Given the description of an element on the screen output the (x, y) to click on. 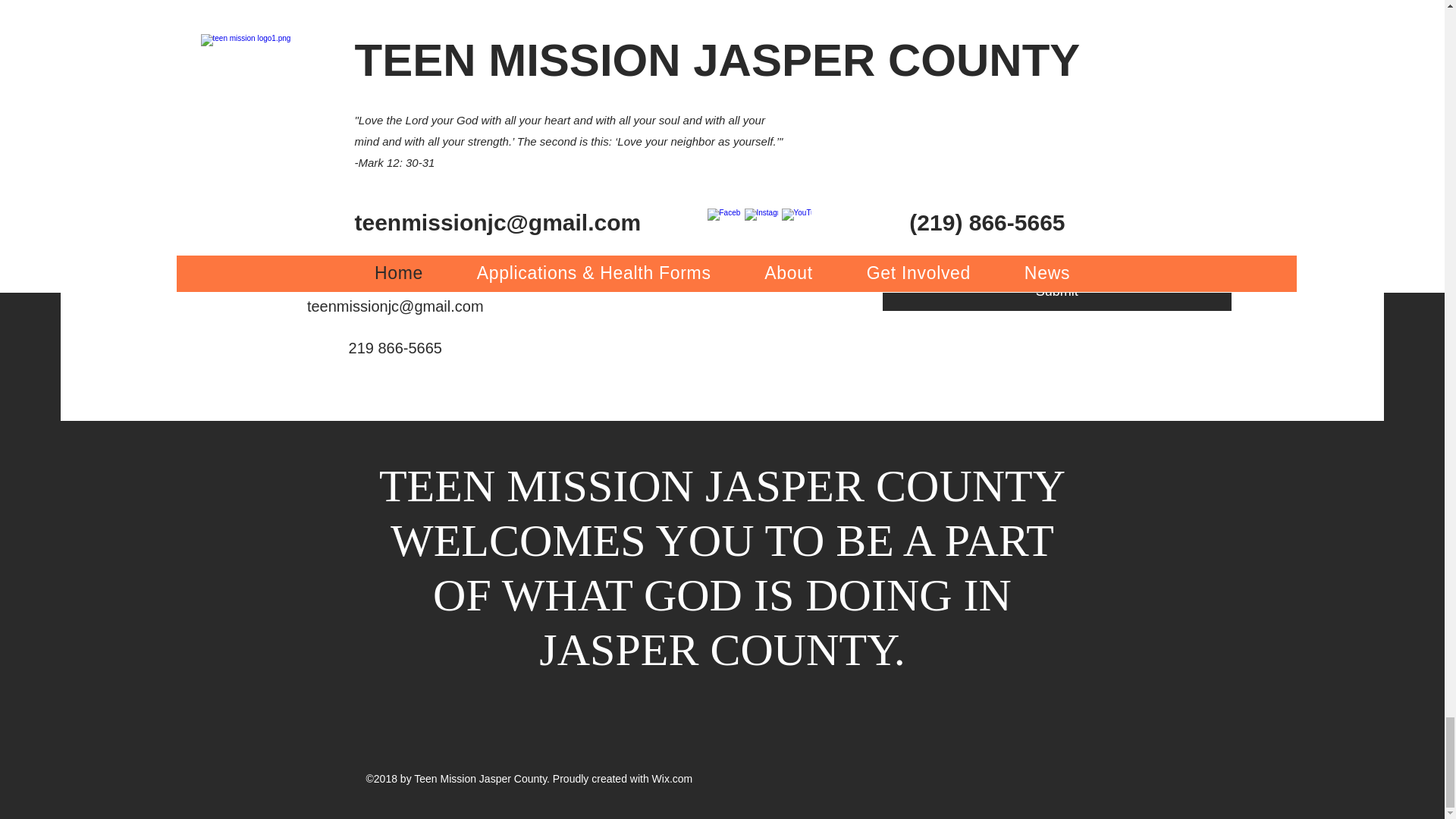
Submit (1056, 291)
